Given the description of an element on the screen output the (x, y) to click on. 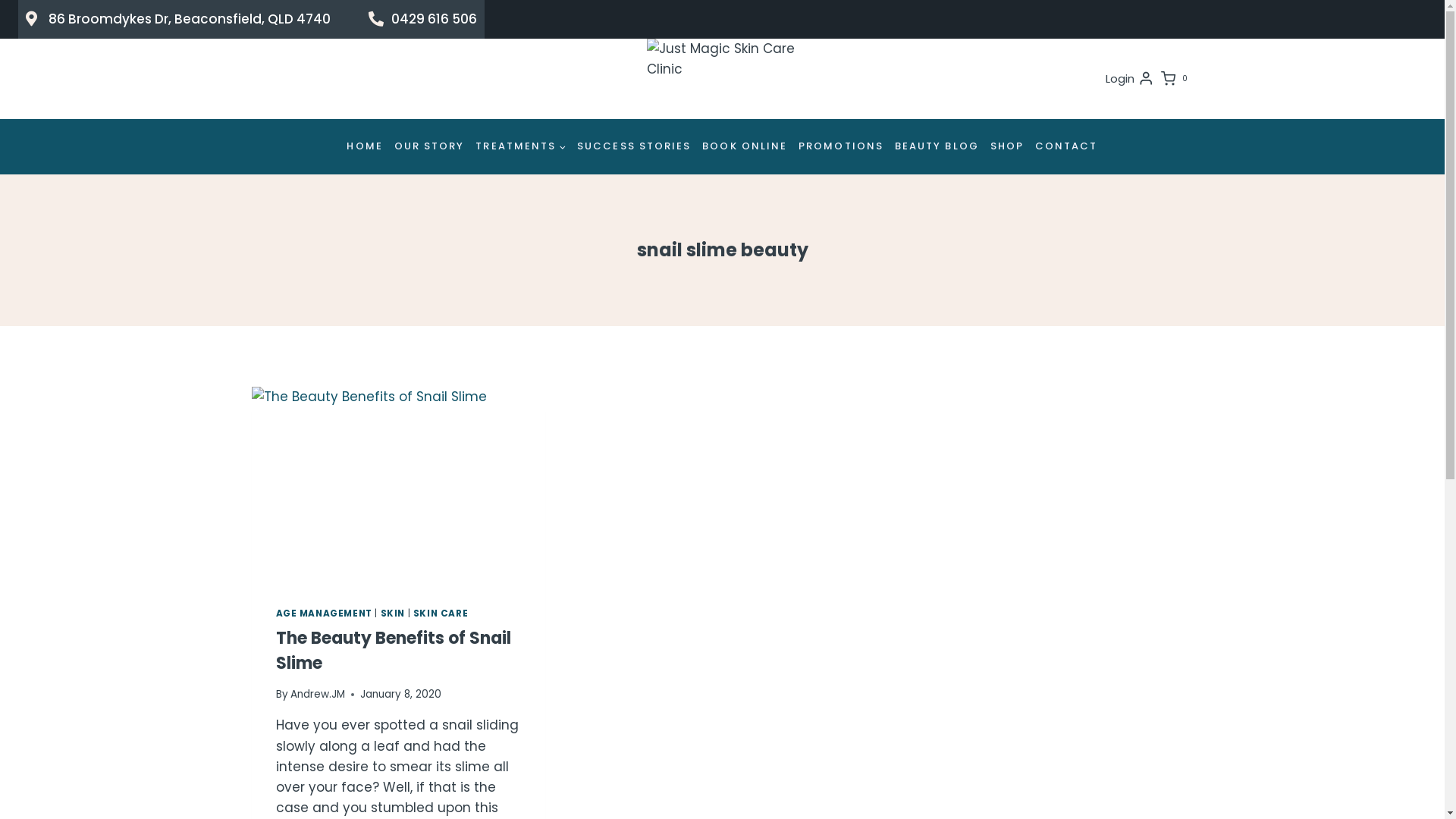
SKIN Element type: text (392, 613)
AGE MANAGEMENT Element type: text (324, 613)
SKIN CARE Element type: text (440, 613)
BEAUTY BLOG Element type: text (936, 146)
OUR STORY Element type: text (429, 146)
The Beauty Benefits of Snail Slime Element type: text (393, 650)
BOOK ONLINE Element type: text (744, 146)
Login Element type: text (1129, 78)
0 Element type: text (1176, 78)
HOME Element type: text (364, 146)
CONTACT Element type: text (1066, 146)
PROMOTIONS Element type: text (841, 146)
0429 616 506 Element type: text (422, 19)
SUCCESS STORIES Element type: text (633, 146)
TREATMENTS Element type: text (520, 146)
Andrew.JM Element type: text (317, 694)
SHOP Element type: text (1006, 146)
